Given the description of an element on the screen output the (x, y) to click on. 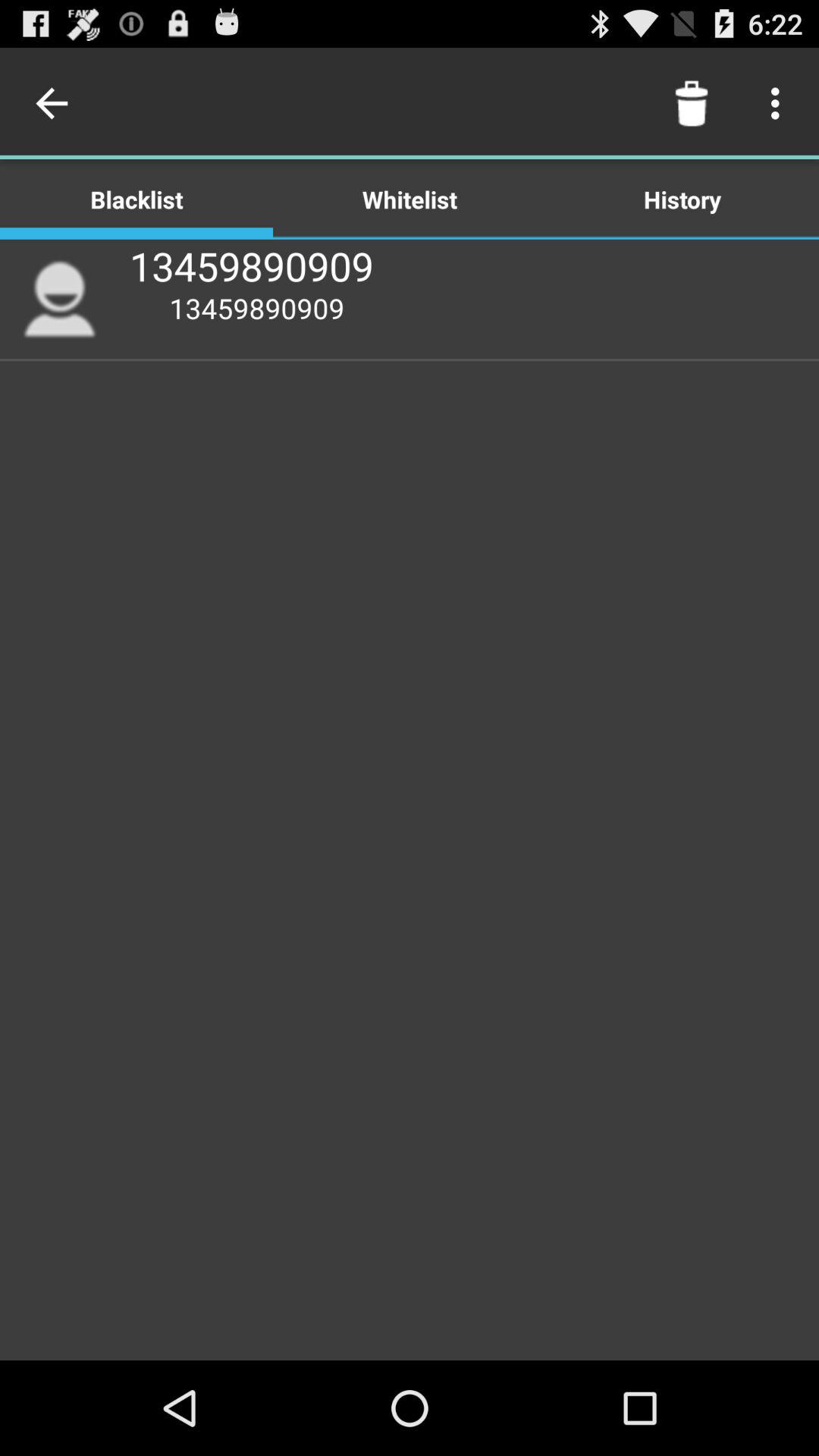
press item below the blacklist item (59, 298)
